Given the description of an element on the screen output the (x, y) to click on. 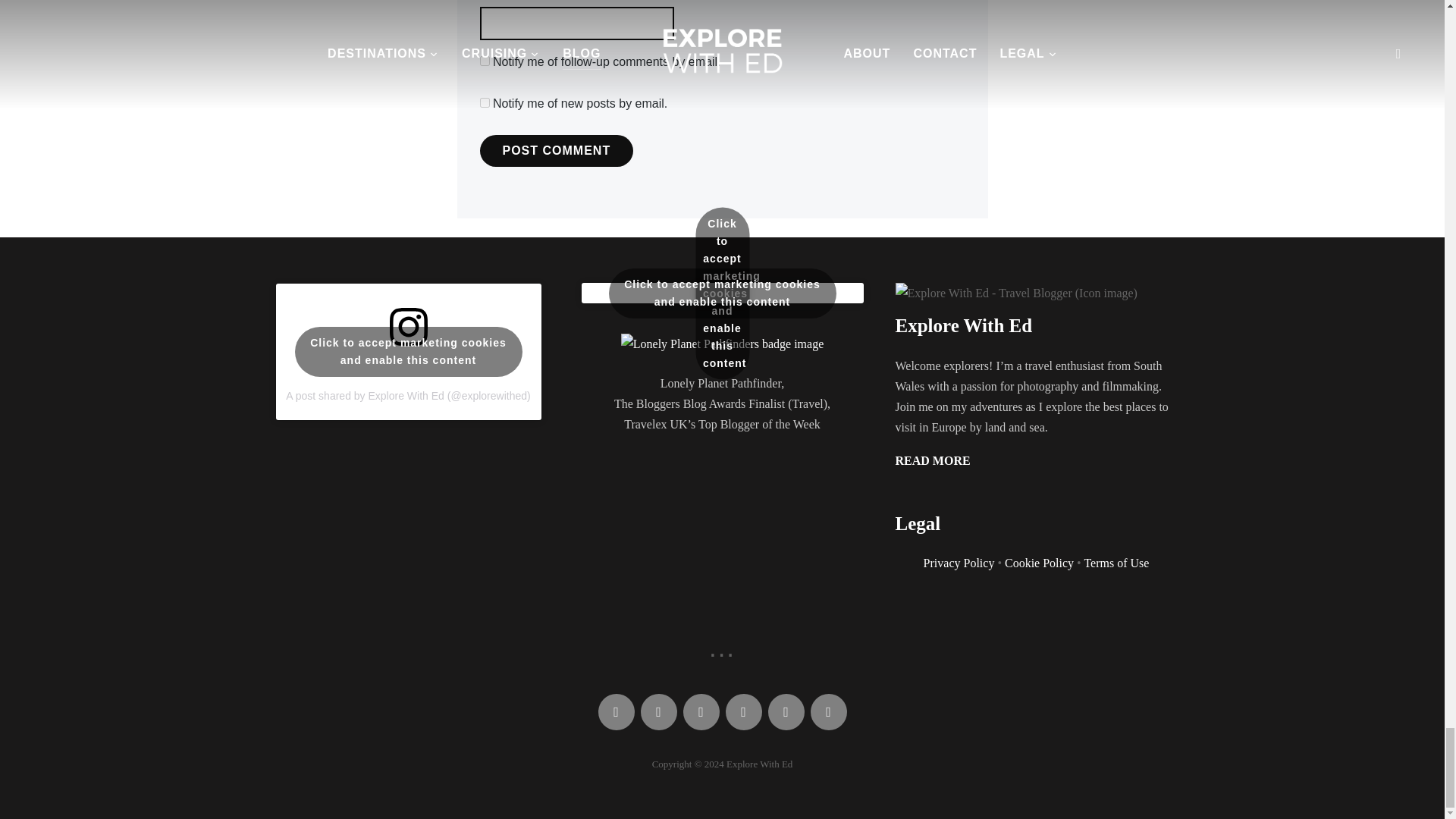
Facebook (614, 711)
subscribe (484, 61)
Post Comment (556, 151)
subscribe (484, 102)
